Given the description of an element on the screen output the (x, y) to click on. 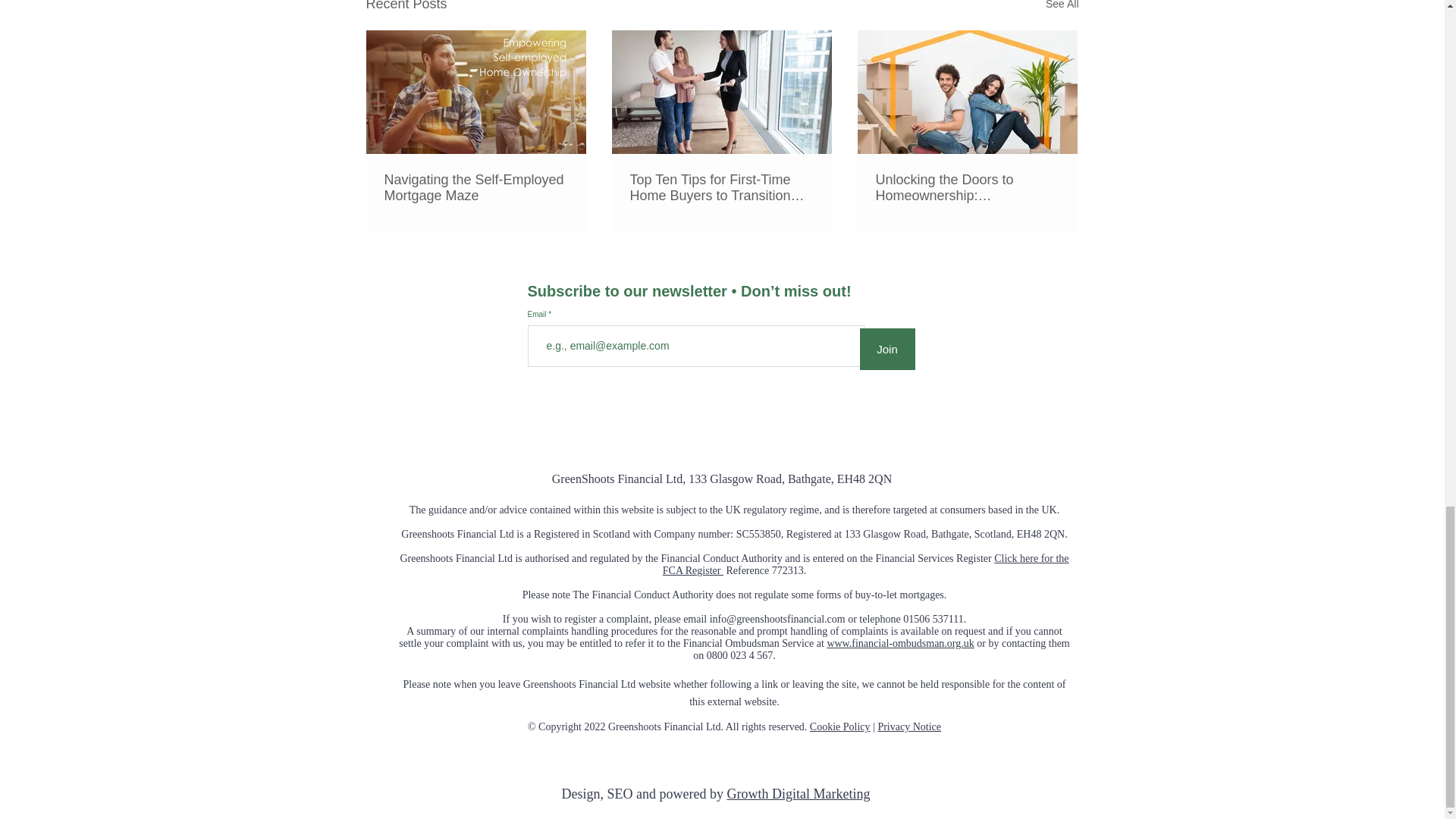
www.financial-ombudsman.org.uk (900, 643)
Join (887, 349)
Cookie Policy (839, 726)
Growth Digital Marketing (797, 793)
Privacy Notice (908, 726)
www.growthdigitalmarketing.co.uk (756, 748)
Navigating the Self-Employed Mortgage Maze (475, 187)
See All (1061, 7)
